Given the description of an element on the screen output the (x, y) to click on. 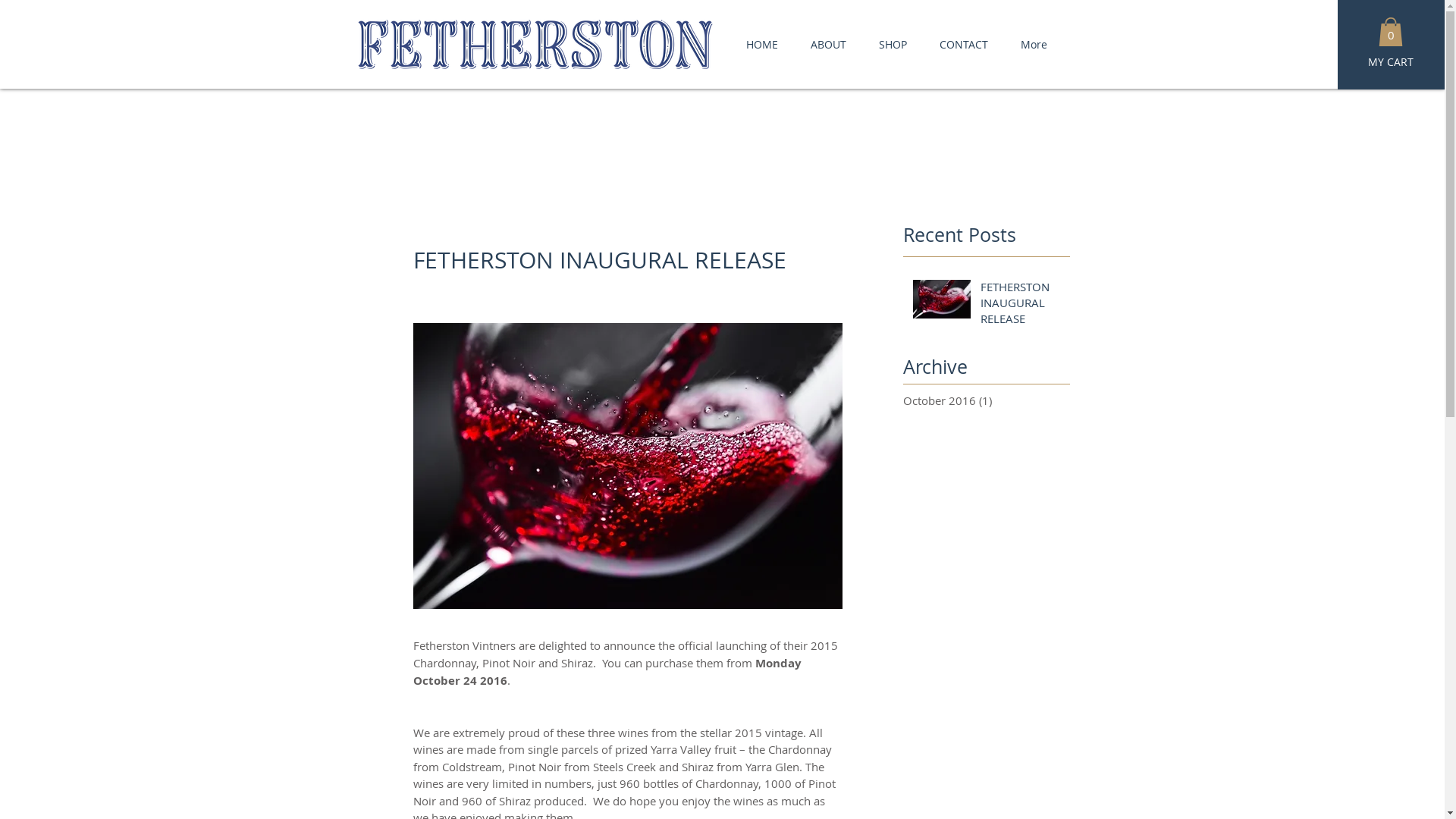
SHOP Element type: text (892, 44)
HOME Element type: text (761, 44)
October 2016 (1) Element type: text (981, 400)
CONTACT Element type: text (963, 44)
ABOUT Element type: text (828, 44)
FETHERSTON INAUGURAL RELEASE Element type: text (1021, 305)
0 Element type: text (1390, 31)
